Given the description of an element on the screen output the (x, y) to click on. 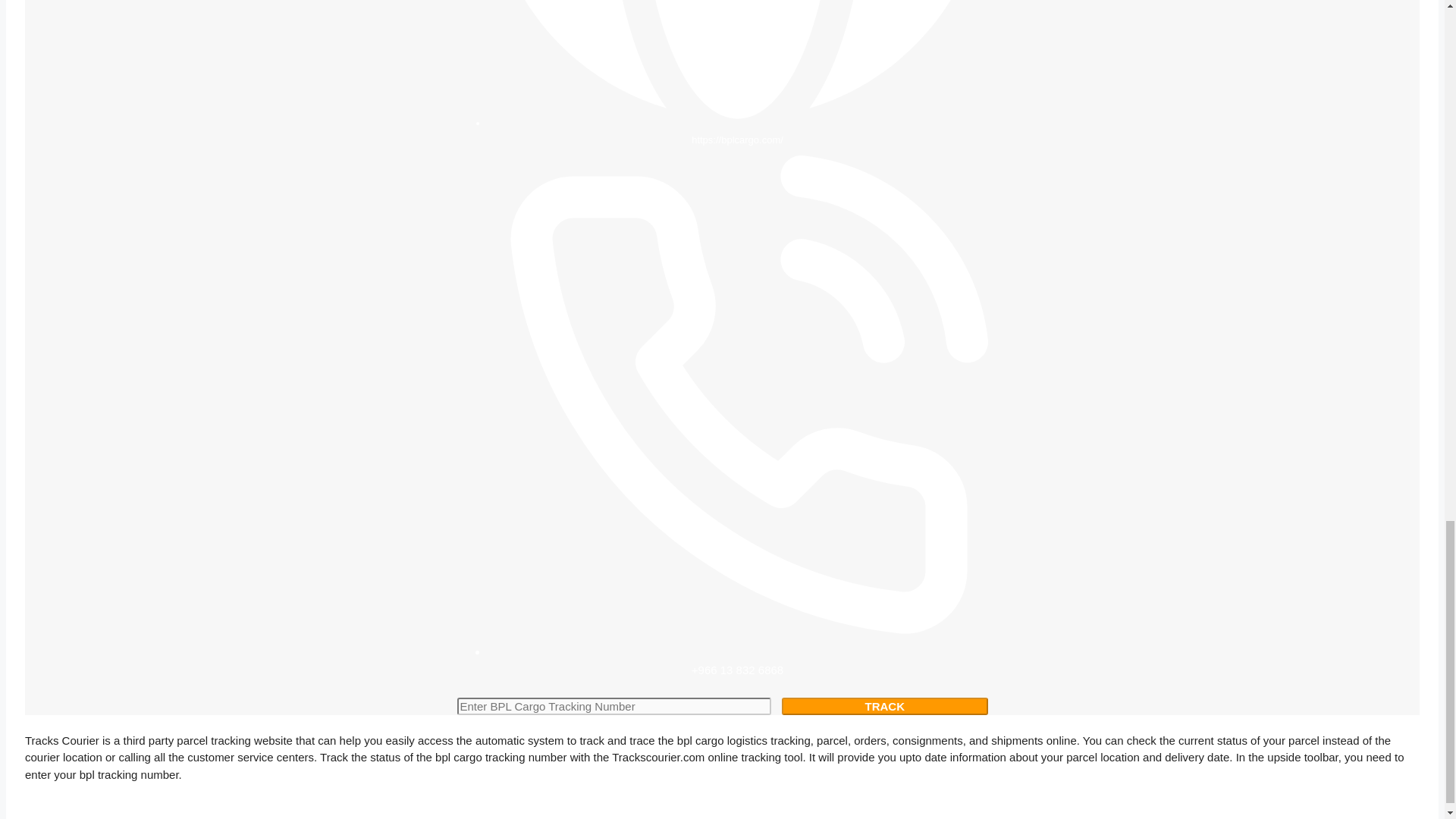
Track (884, 705)
Track (884, 705)
